Given the description of an element on the screen output the (x, y) to click on. 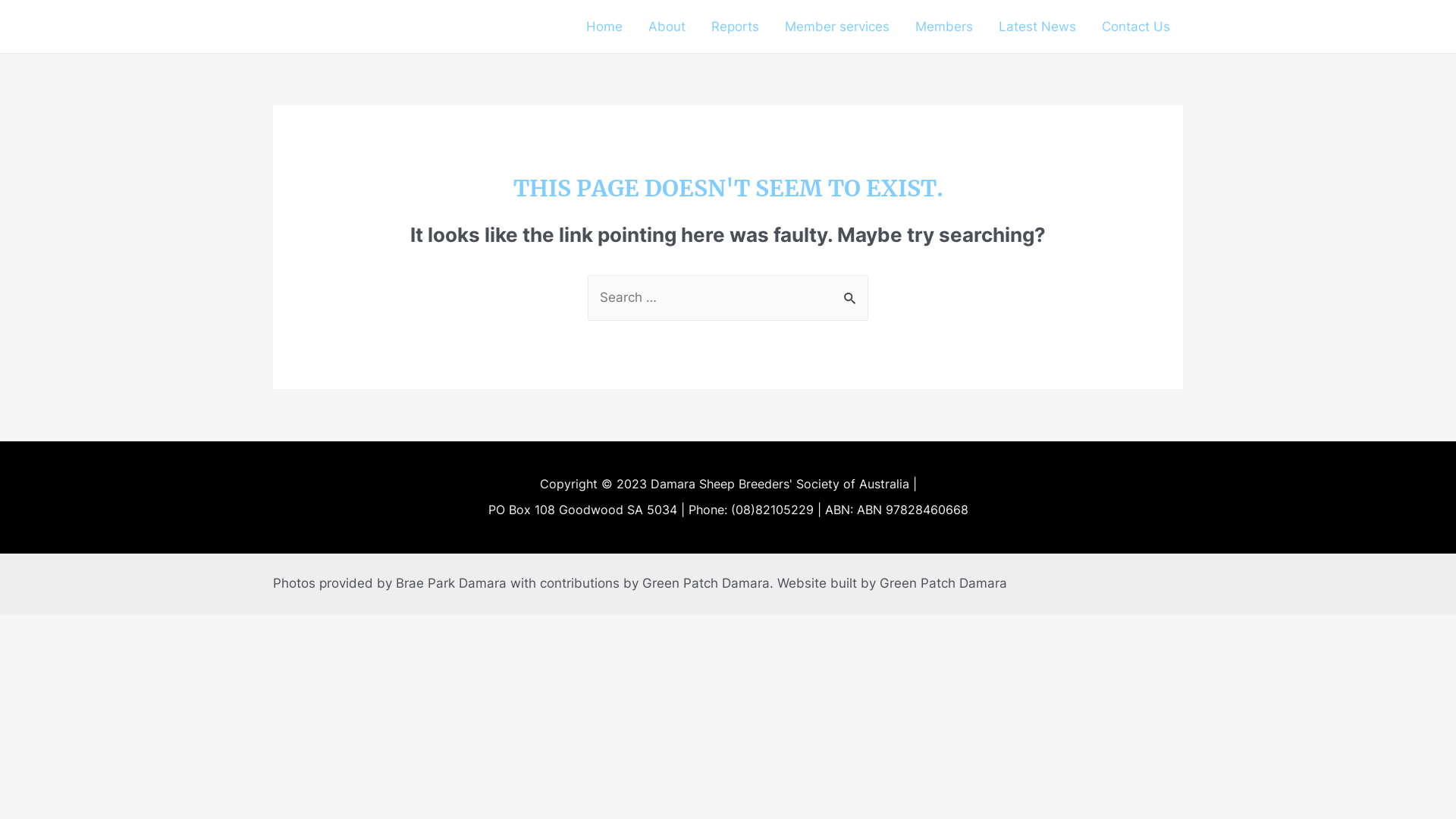
Member services Element type: text (836, 26)
Home Element type: text (604, 26)
Search Element type: text (851, 291)
Latest News Element type: text (1036, 26)
About Element type: text (666, 26)
Members Element type: text (943, 26)
Contact Us Element type: text (1135, 26)
Reports Element type: text (734, 26)
